Given the description of an element on the screen output the (x, y) to click on. 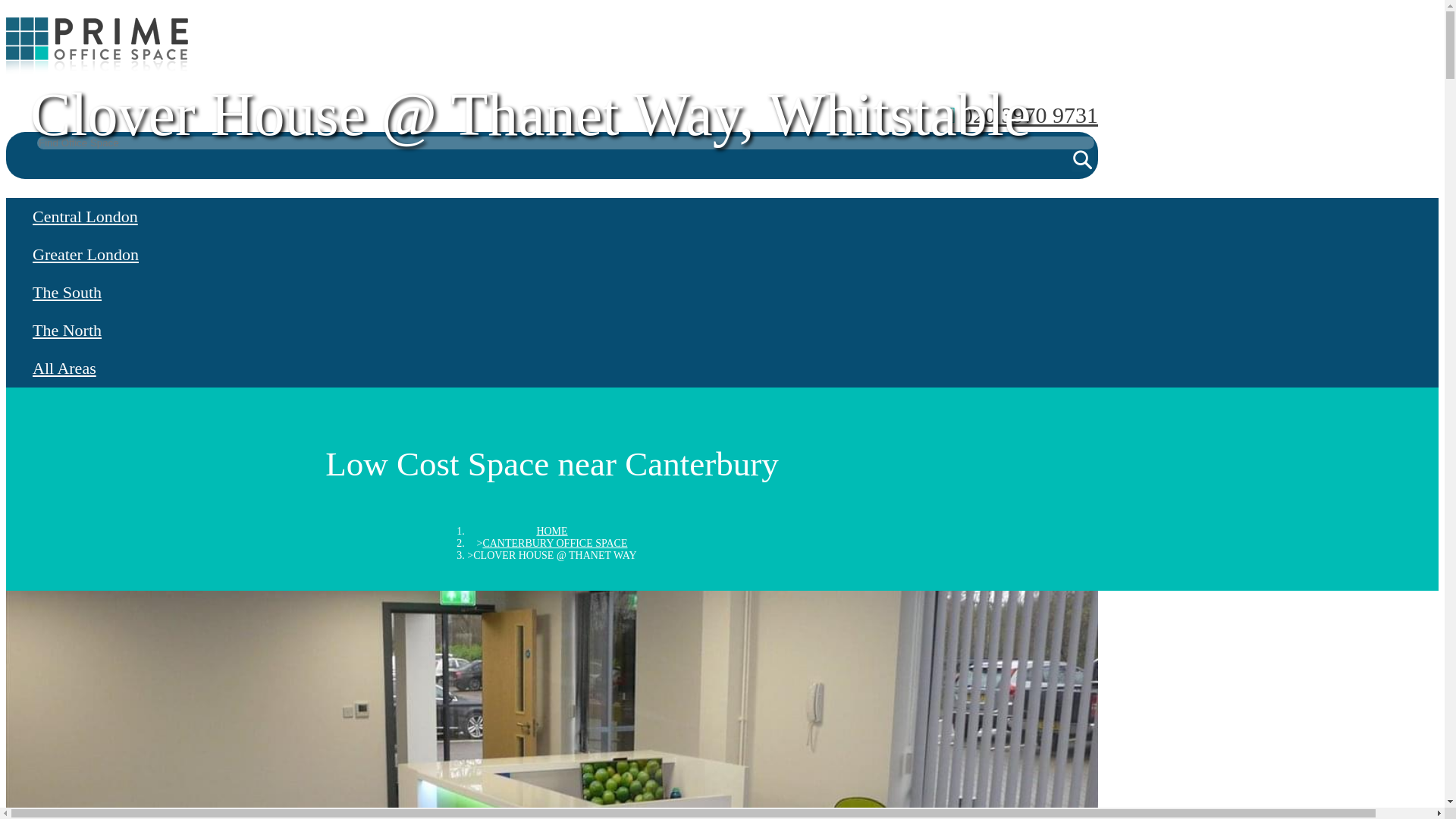
All Areas (551, 368)
CANTERBURY OFFICE SPACE (554, 542)
020 3970 9731 (1028, 114)
The North (551, 330)
Greater London (551, 254)
Central London (551, 216)
The South (551, 292)
HOME (551, 531)
